Given the description of an element on the screen output the (x, y) to click on. 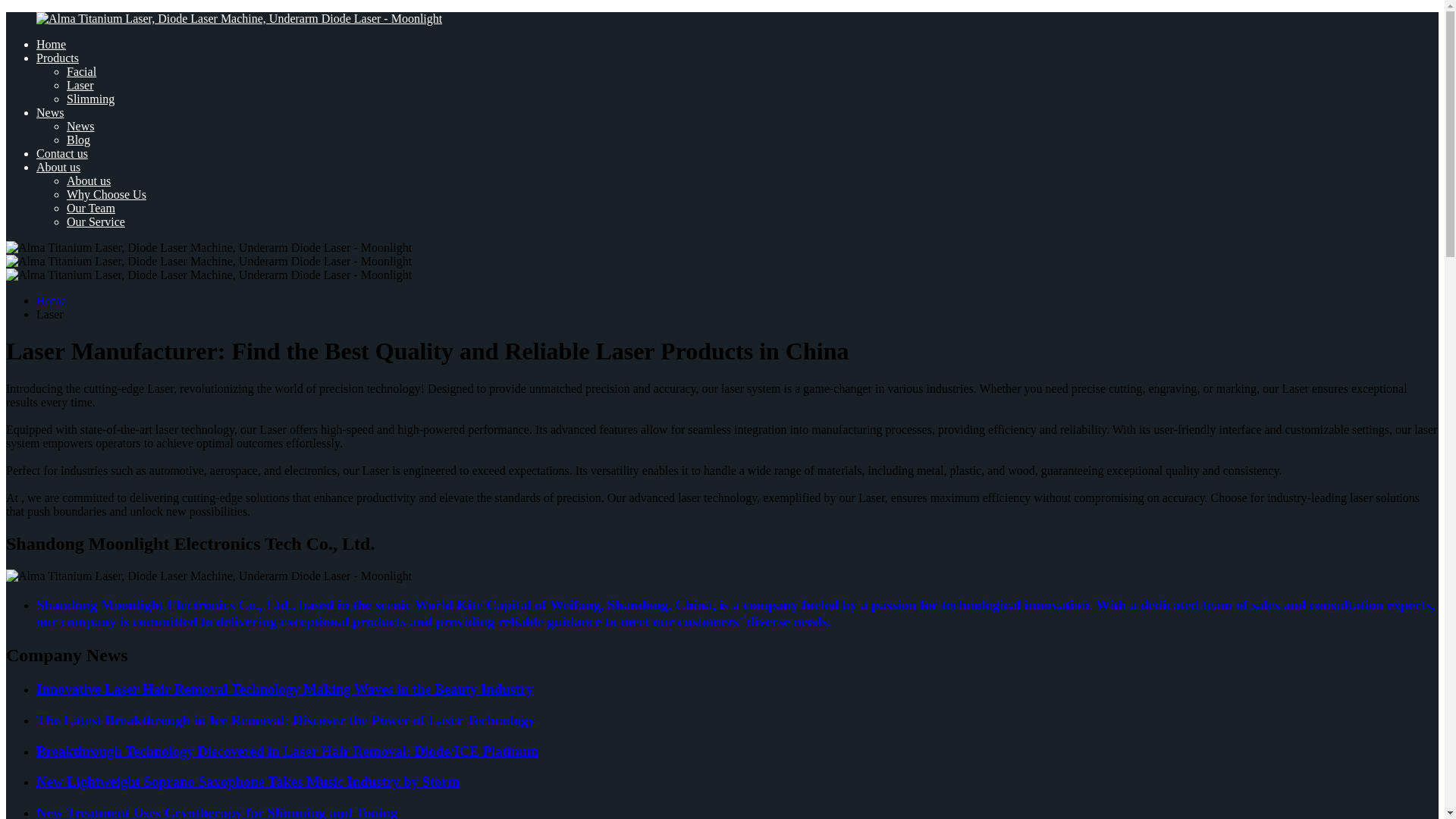
News (80, 125)
Laser (80, 84)
Home (50, 300)
News (50, 112)
Slimming (90, 98)
Blog (78, 139)
About us (58, 166)
Our Team (90, 207)
About us (88, 180)
Why Choose Us (106, 194)
Home (50, 43)
Products (57, 57)
Our Service (95, 221)
Contact us (61, 153)
Facial (81, 71)
